Given the description of an element on the screen output the (x, y) to click on. 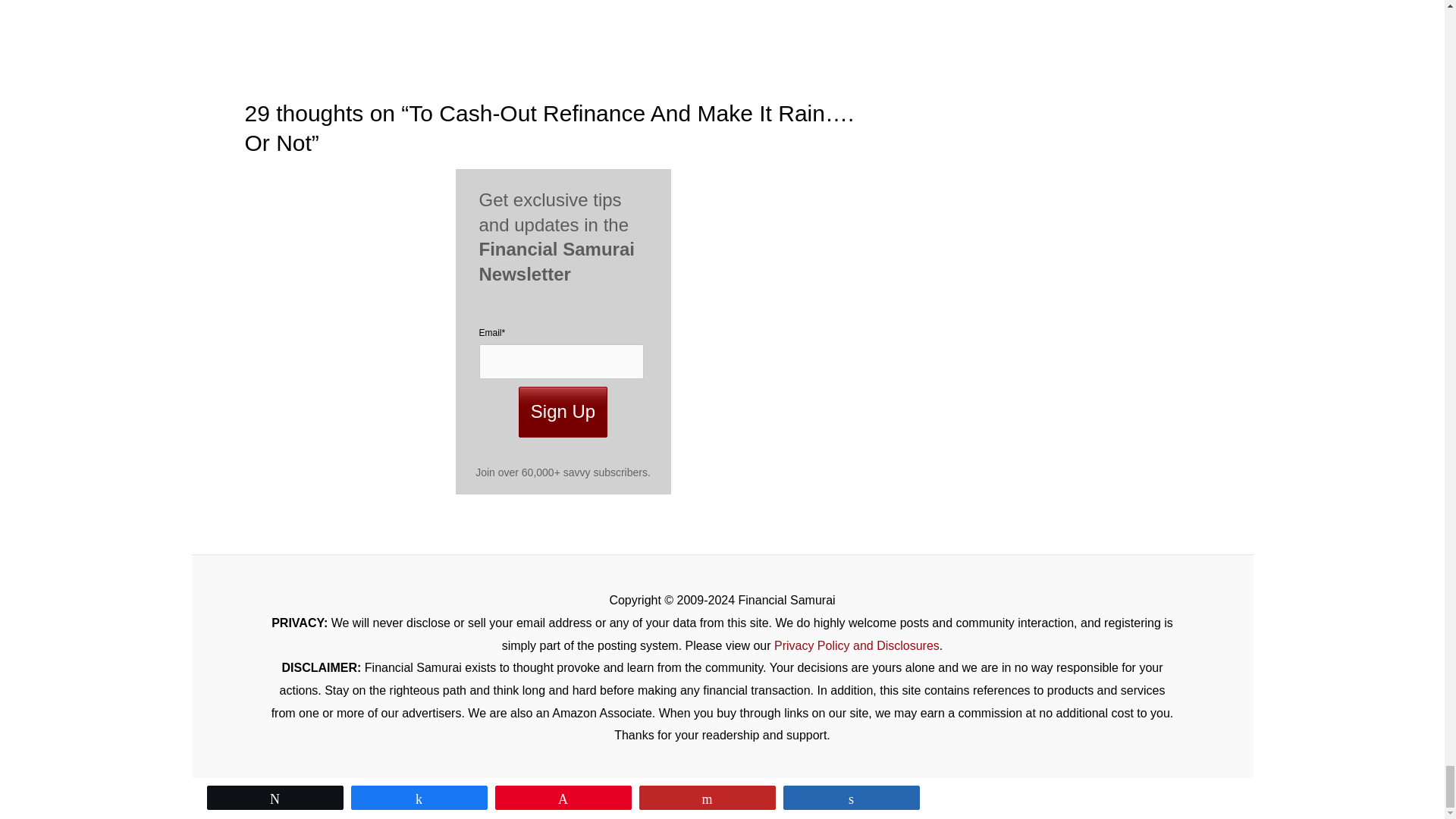
Sign Up (562, 411)
